Given the description of an element on the screen output the (x, y) to click on. 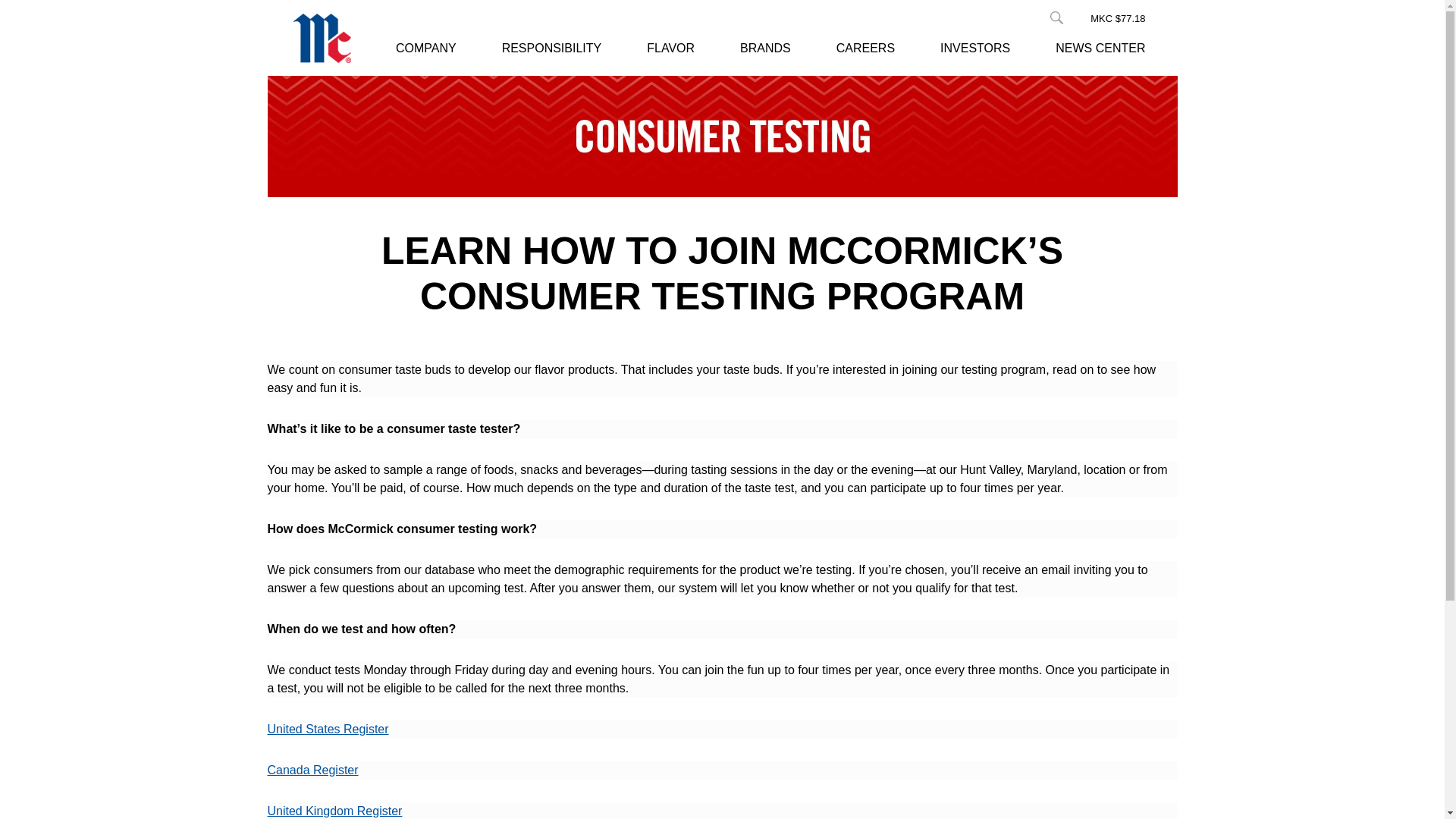
NEWS CENTER (1099, 47)
CAREERS (865, 47)
consumer testing (721, 136)
RESPONSIBILITY (552, 47)
BRANDS (764, 47)
INVESTORS (975, 47)
COMPANY (426, 47)
FLAVOR (670, 47)
Desktop Logo (321, 38)
Search Dialog Button (1055, 17)
